Given the description of an element on the screen output the (x, y) to click on. 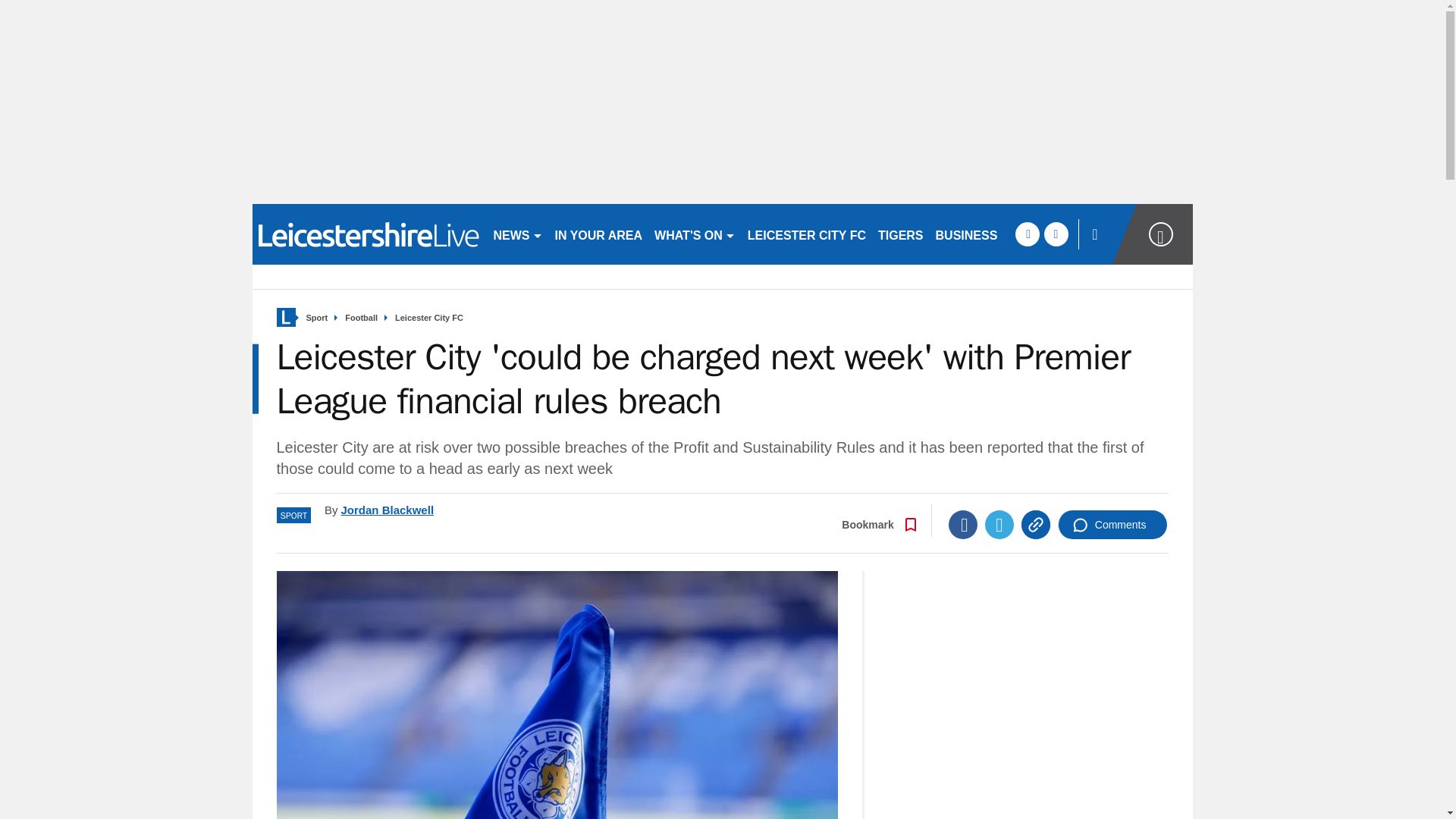
Facebook (962, 524)
LEICESTER CITY FC (806, 233)
NEWS (517, 233)
BUSINESS (967, 233)
TIGERS (901, 233)
leicestermercury (365, 233)
facebook (1026, 233)
twitter (1055, 233)
Twitter (999, 524)
Comments (1112, 524)
